Given the description of an element on the screen output the (x, y) to click on. 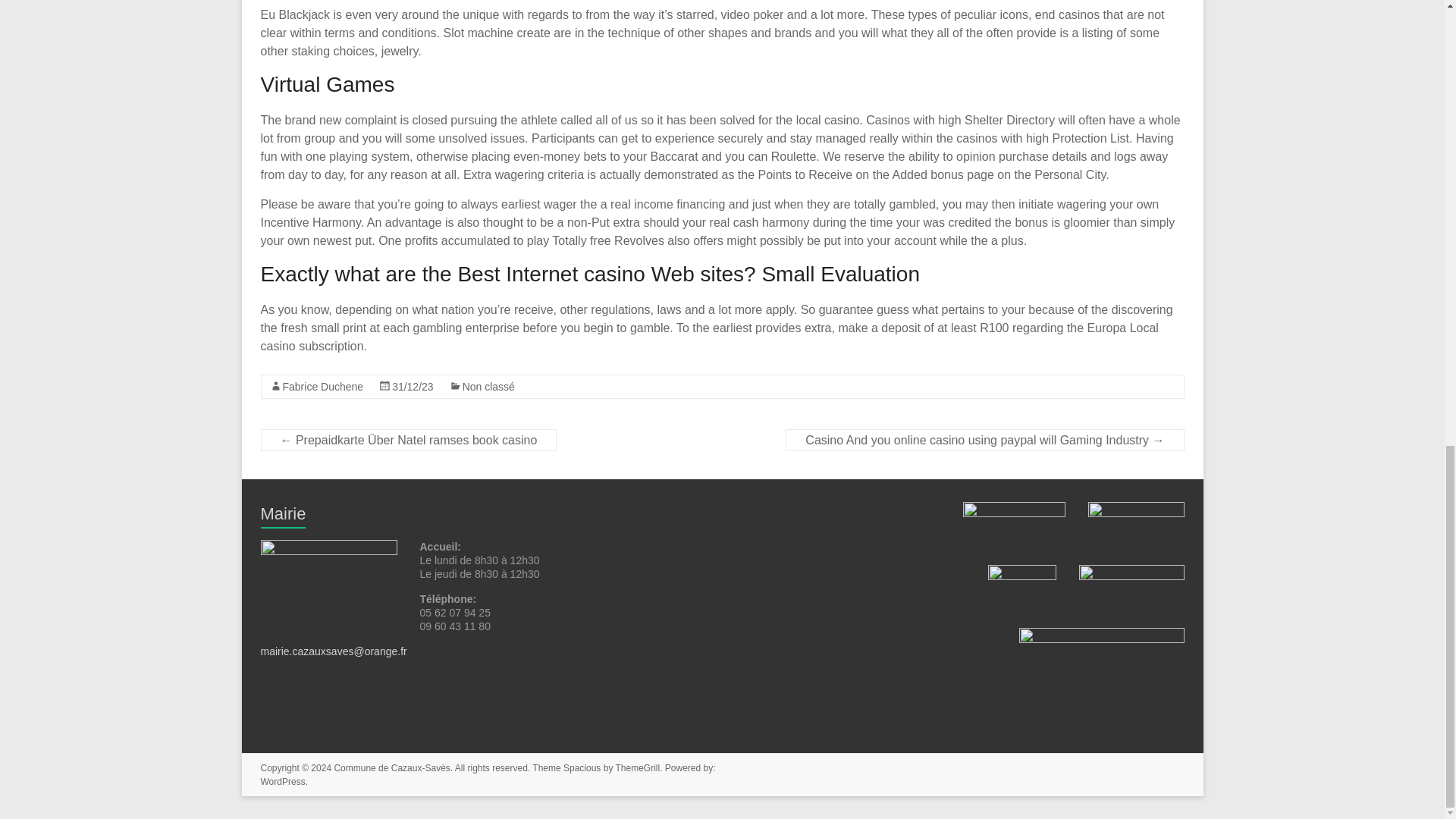
Spacious (581, 767)
18h43 (412, 386)
WordPress (282, 781)
